Given the description of an element on the screen output the (x, y) to click on. 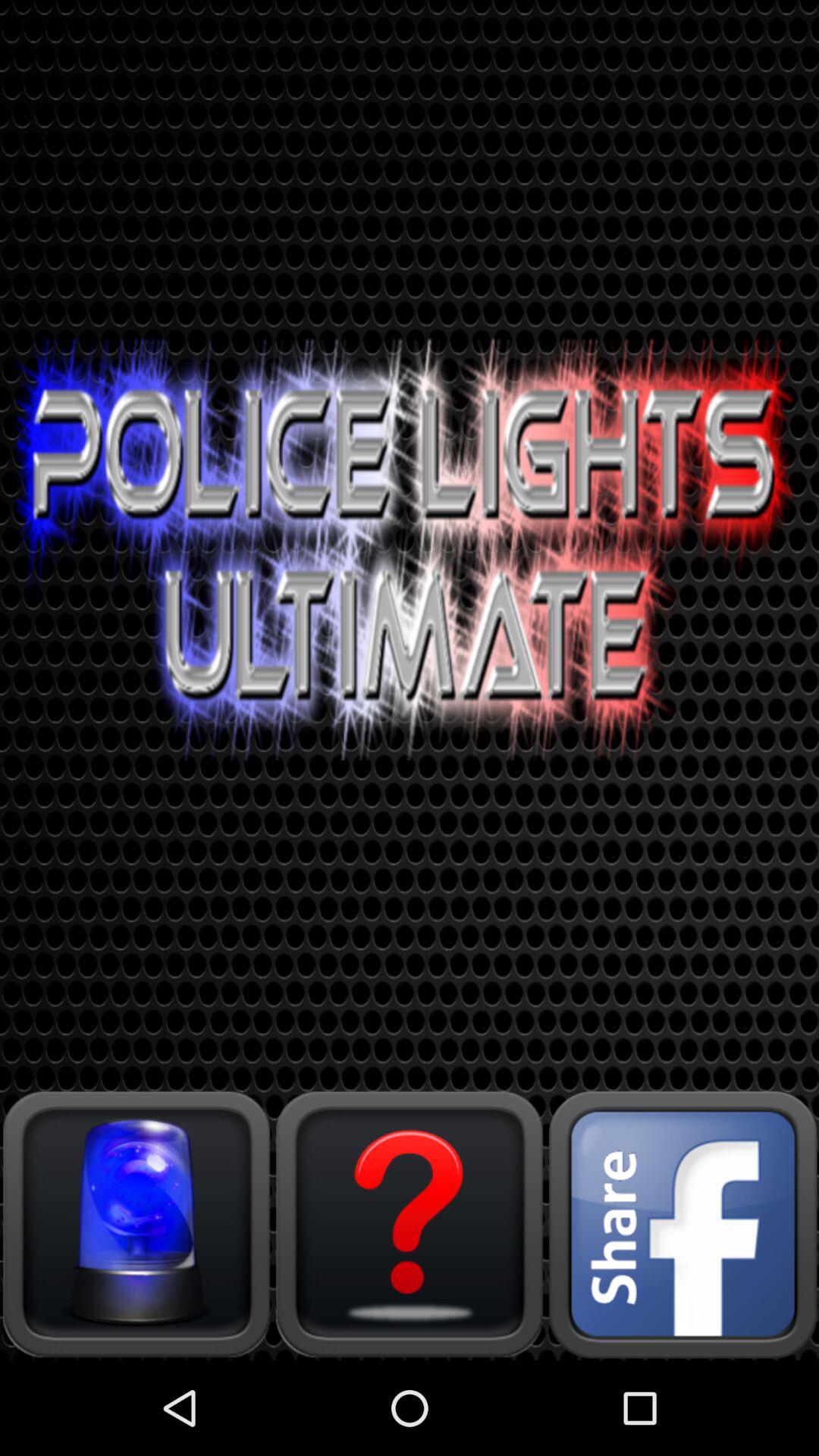
go to help section (409, 1223)
